Given the description of an element on the screen output the (x, y) to click on. 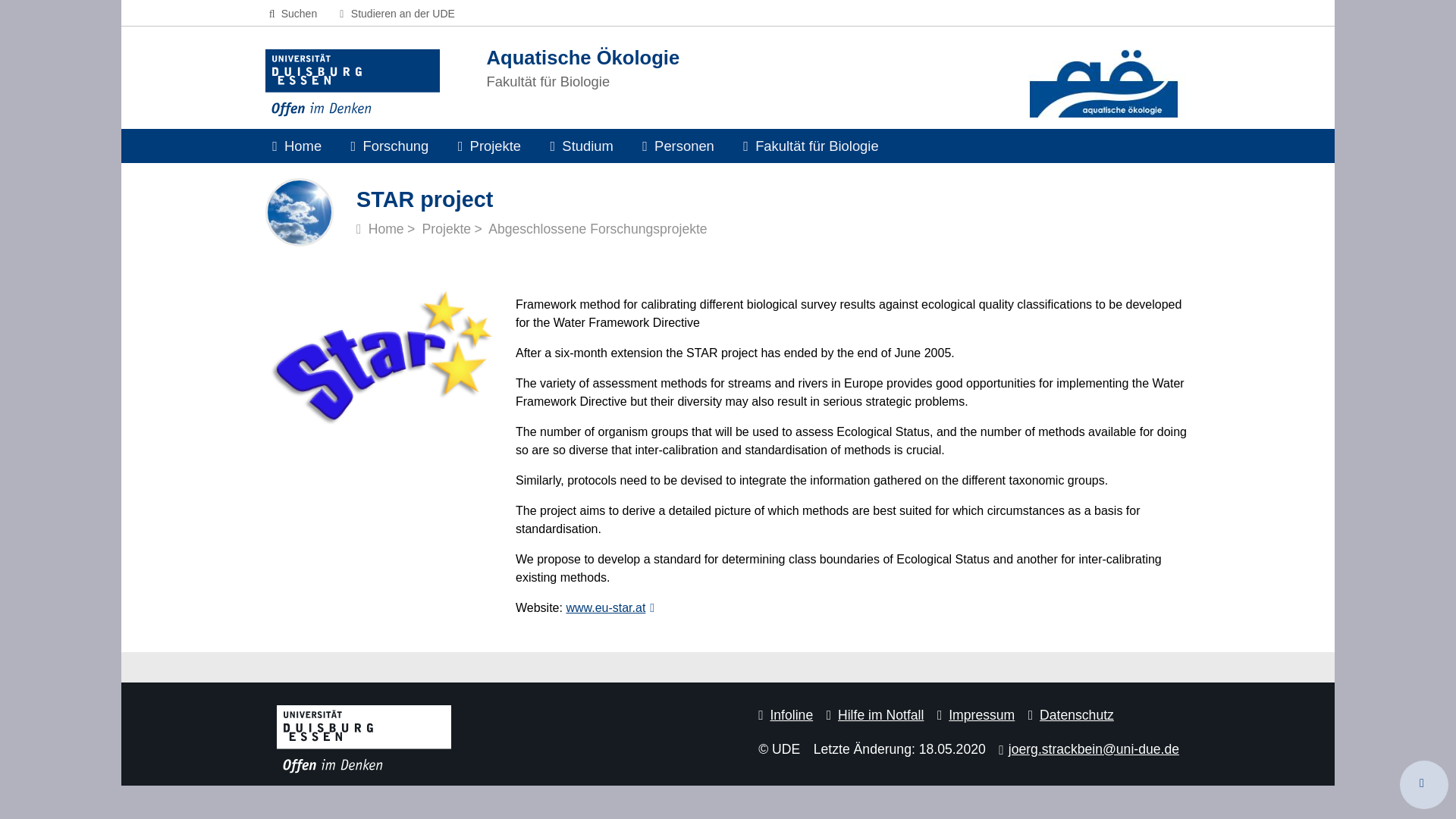
Home (380, 228)
Personen (678, 145)
Projekte (489, 145)
Forschung (389, 145)
Studieren an der UDE (394, 13)
Home (296, 145)
Studium (581, 145)
Infoline (785, 714)
Abgeschlossene Forschungsprojekte (597, 228)
Studium (581, 145)
Projekte (489, 145)
Personen (678, 145)
www.eu-star.at (609, 607)
Forschung (389, 145)
Home (296, 145)
